Given the description of an element on the screen output the (x, y) to click on. 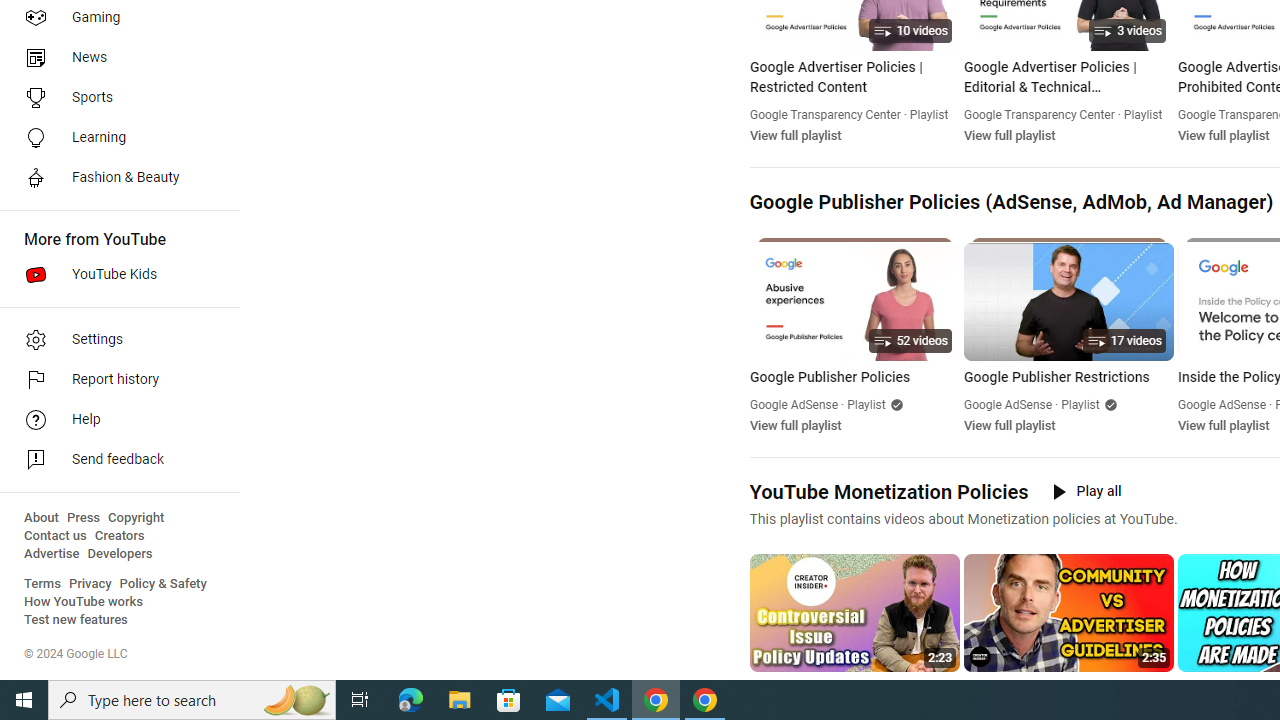
Advertise (51, 554)
Contact us (55, 536)
Report history (113, 380)
Play all (1086, 491)
Test new features (76, 620)
YouTube Kids (113, 274)
Learning (113, 137)
Google AdSense (1222, 404)
Policy & Safety (163, 584)
Privacy (89, 584)
News (113, 57)
Action menu (1160, 687)
Help (113, 419)
View full playlist (1222, 425)
Playlist (1079, 404)
